Given the description of an element on the screen output the (x, y) to click on. 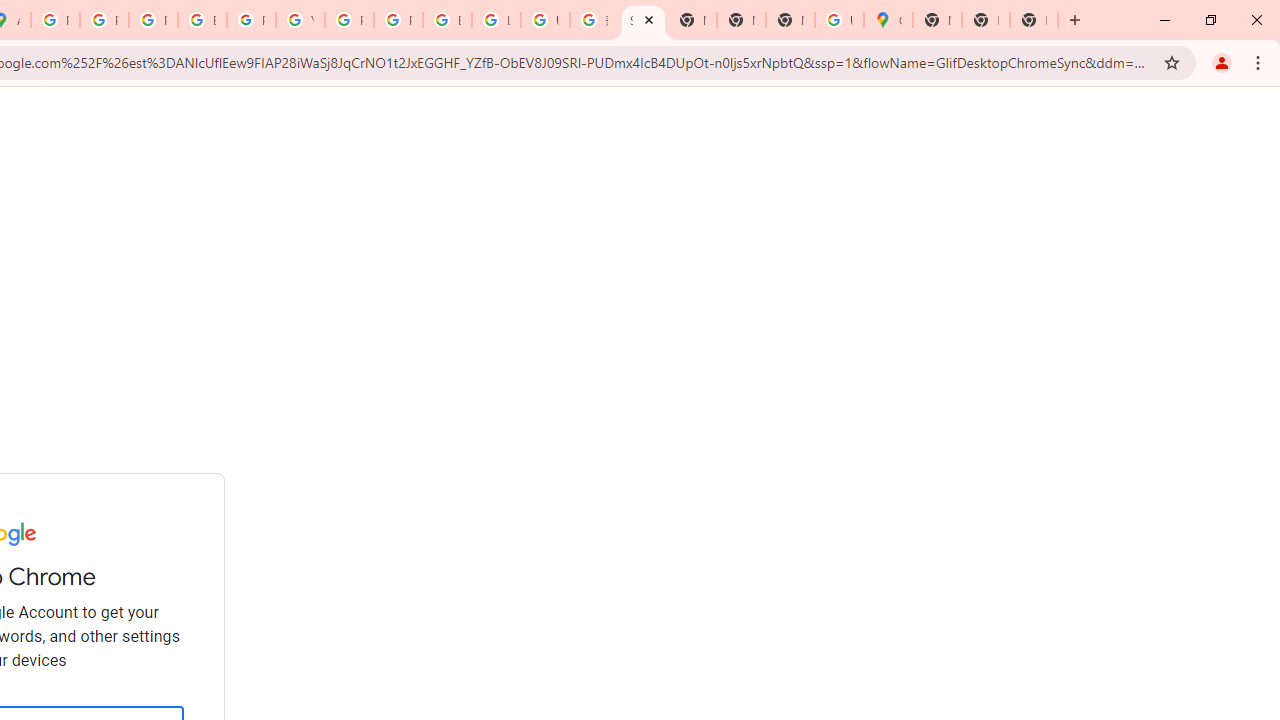
Privacy Help Center - Policies Help (153, 20)
Policy Accountability and Transparency - Transparency Center (55, 20)
New Tab (1033, 20)
Privacy Help Center - Policies Help (104, 20)
New Tab (937, 20)
Google Maps (888, 20)
New Tab (790, 20)
